Given the description of an element on the screen output the (x, y) to click on. 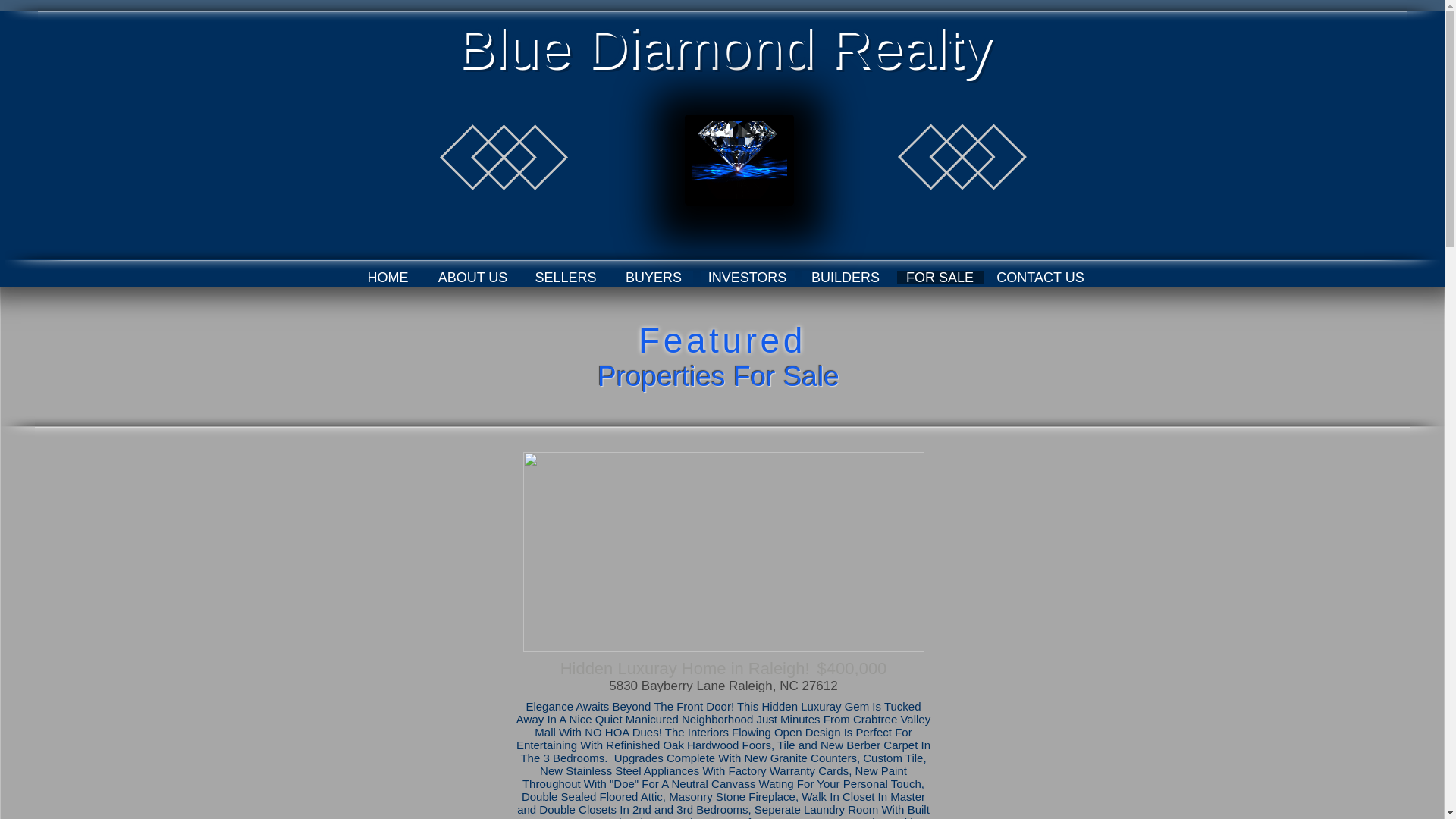
INVESTORS (747, 277)
BUYERS (653, 277)
BUILDERS (845, 277)
ABOUT US (472, 277)
SELLERS (565, 277)
FOR SALE (939, 277)
CONTACT US (1039, 277)
HOME (388, 277)
